Given the description of an element on the screen output the (x, y) to click on. 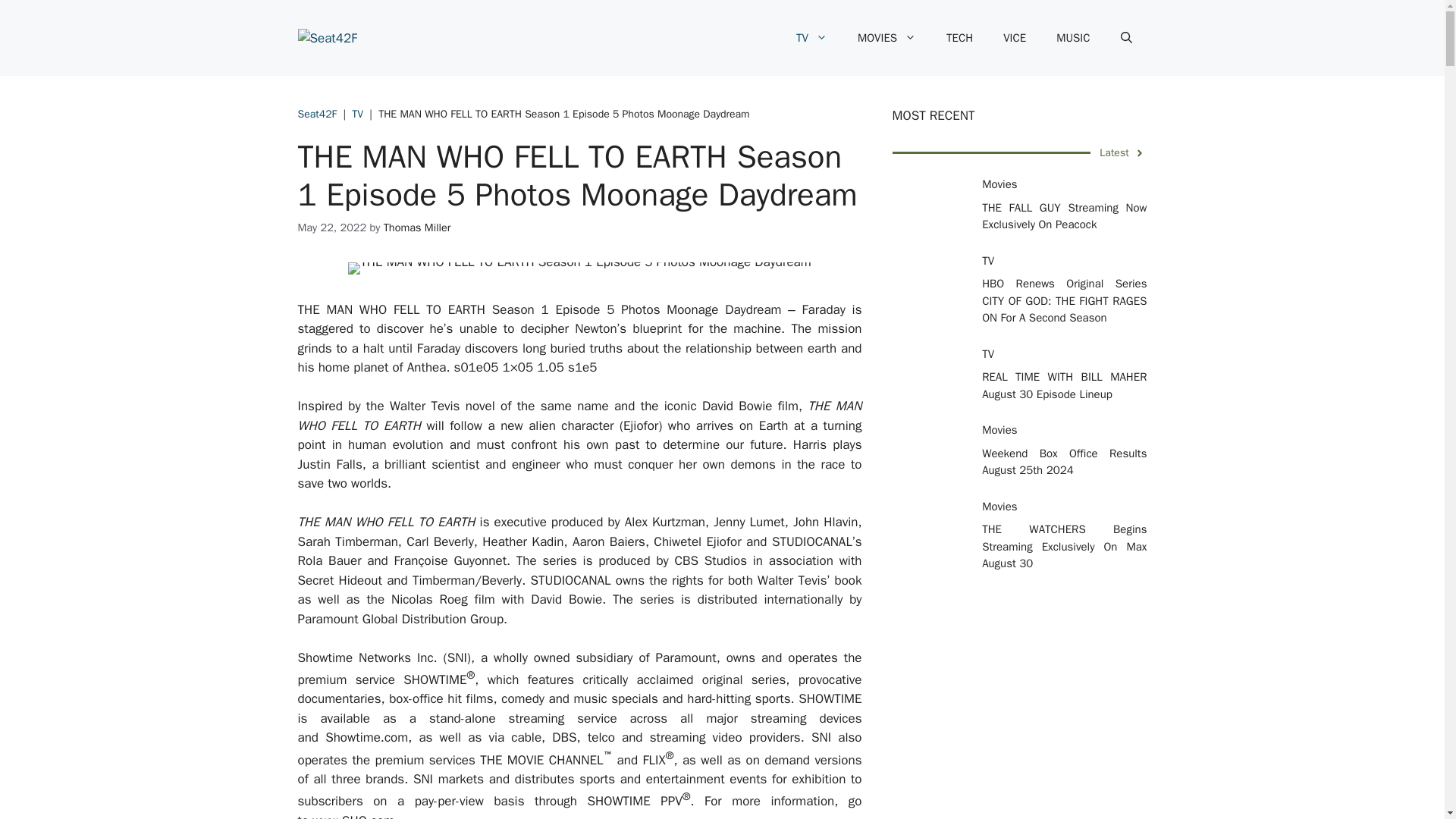
CBS (686, 560)
Showtime (324, 657)
TV (811, 37)
View all posts by Thomas Miller (417, 227)
